Given the description of an element on the screen output the (x, y) to click on. 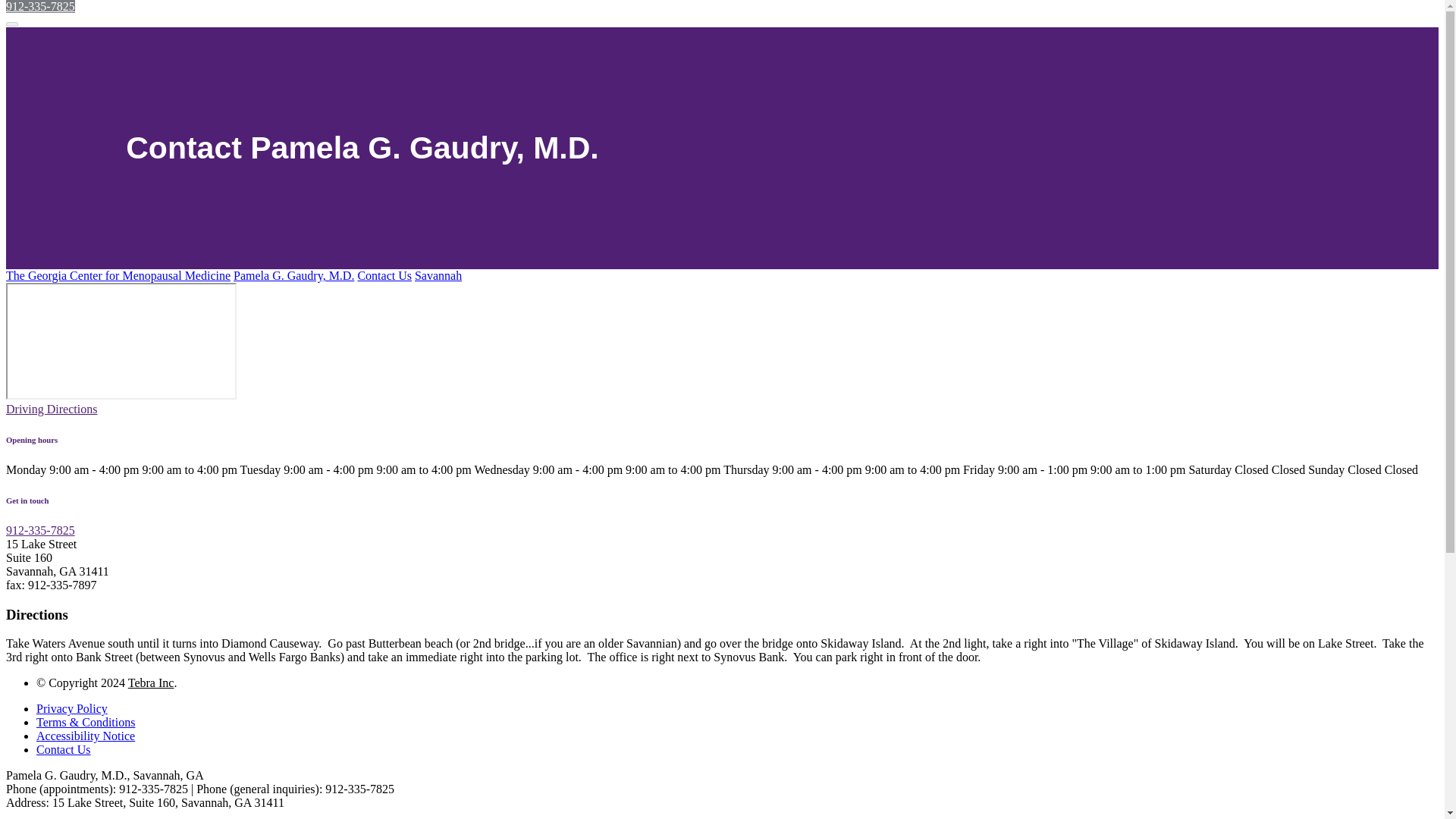
Map of Lake Street (120, 340)
912-335-7825 (40, 6)
